Given the description of an element on the screen output the (x, y) to click on. 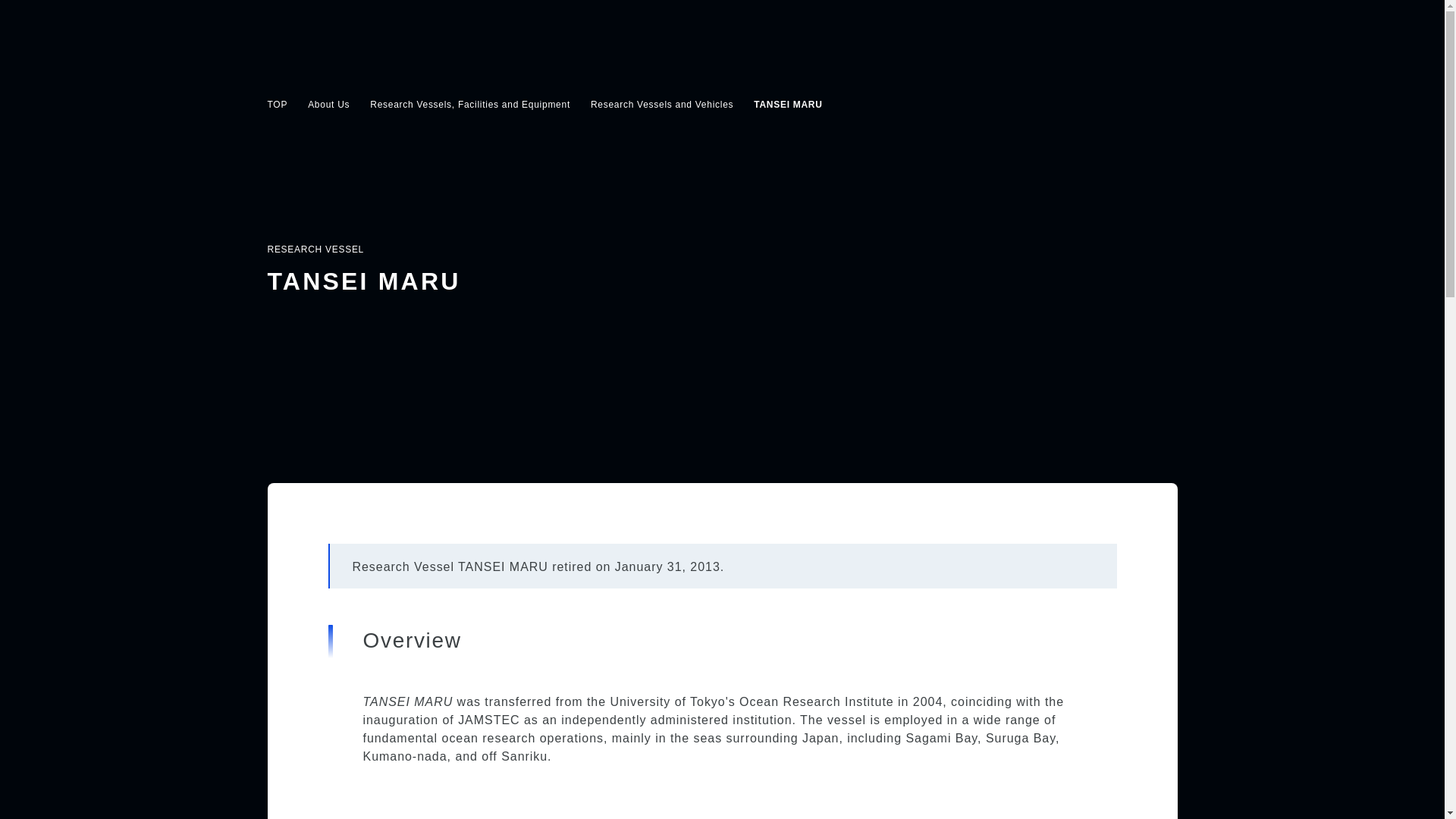
Research Vessels and Vehicles (662, 104)
TOP (276, 104)
Research Vessels, Facilities and Equipment (469, 104)
About Us (328, 104)
